Given the description of an element on the screen output the (x, y) to click on. 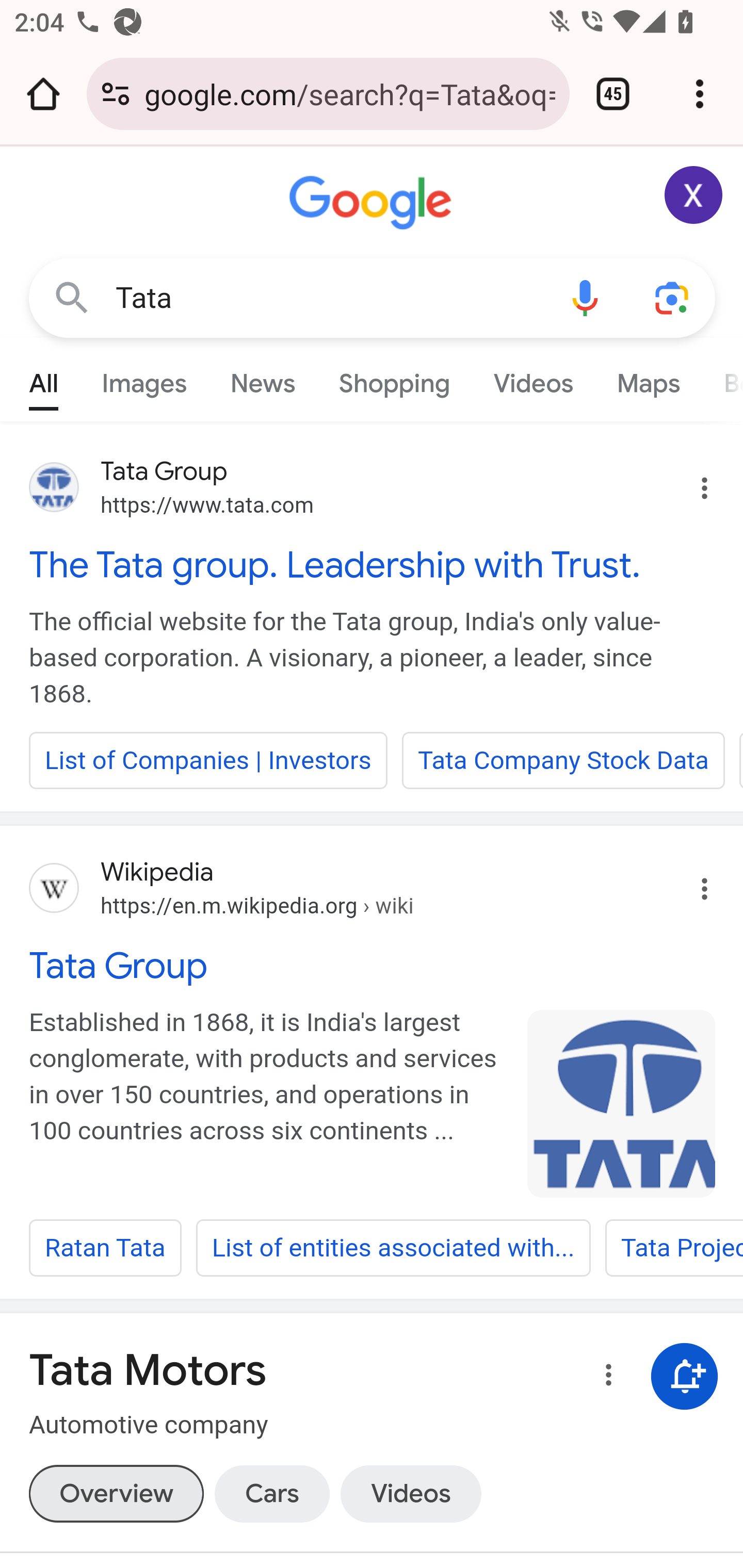
Open the home page (43, 93)
Connection is secure (115, 93)
Switch or close tabs (612, 93)
Customize and control Google Chrome (699, 93)
Google (372, 203)
Google Account: Xiaoran (zxrappiumtest@gmail.com) (694, 195)
Google Search (71, 296)
Search using your camera or photos (672, 296)
Tata (328, 297)
Images (144, 378)
News (262, 378)
Shopping (394, 378)
Videos (533, 378)
Maps (647, 378)
The Tata group. Leadership with Trust. (372, 564)
List of Companies | Investors (207, 760)
Tata Company Stock Data (563, 760)
Tata Group (372, 965)
Tata_Group (621, 1102)
Ratan Tata (105, 1247)
List of entities associated with... (393, 1247)
Tata Projects (673, 1247)
Get notifications about Tata Motors (684, 1376)
More options (605, 1378)
Overview (116, 1493)
Cars (271, 1493)
Videos (410, 1493)
